Given the description of an element on the screen output the (x, y) to click on. 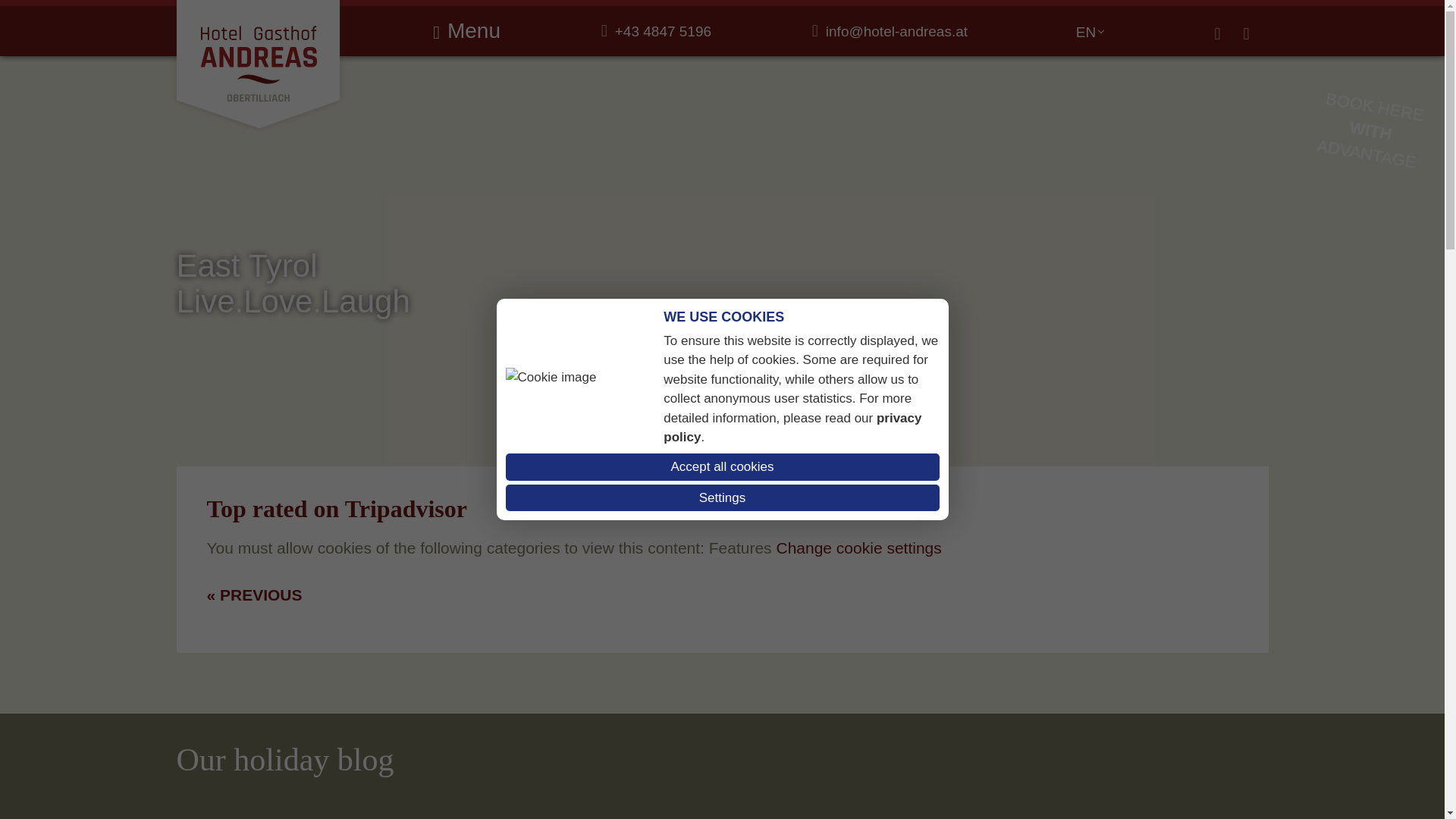
WITH (1369, 126)
EN (1085, 32)
Facebook (1250, 30)
Change cookie settings (858, 547)
Instagram (1279, 30)
ADVANTAGE (1365, 144)
BOOK HERE (1373, 97)
